Given the description of an element on the screen output the (x, y) to click on. 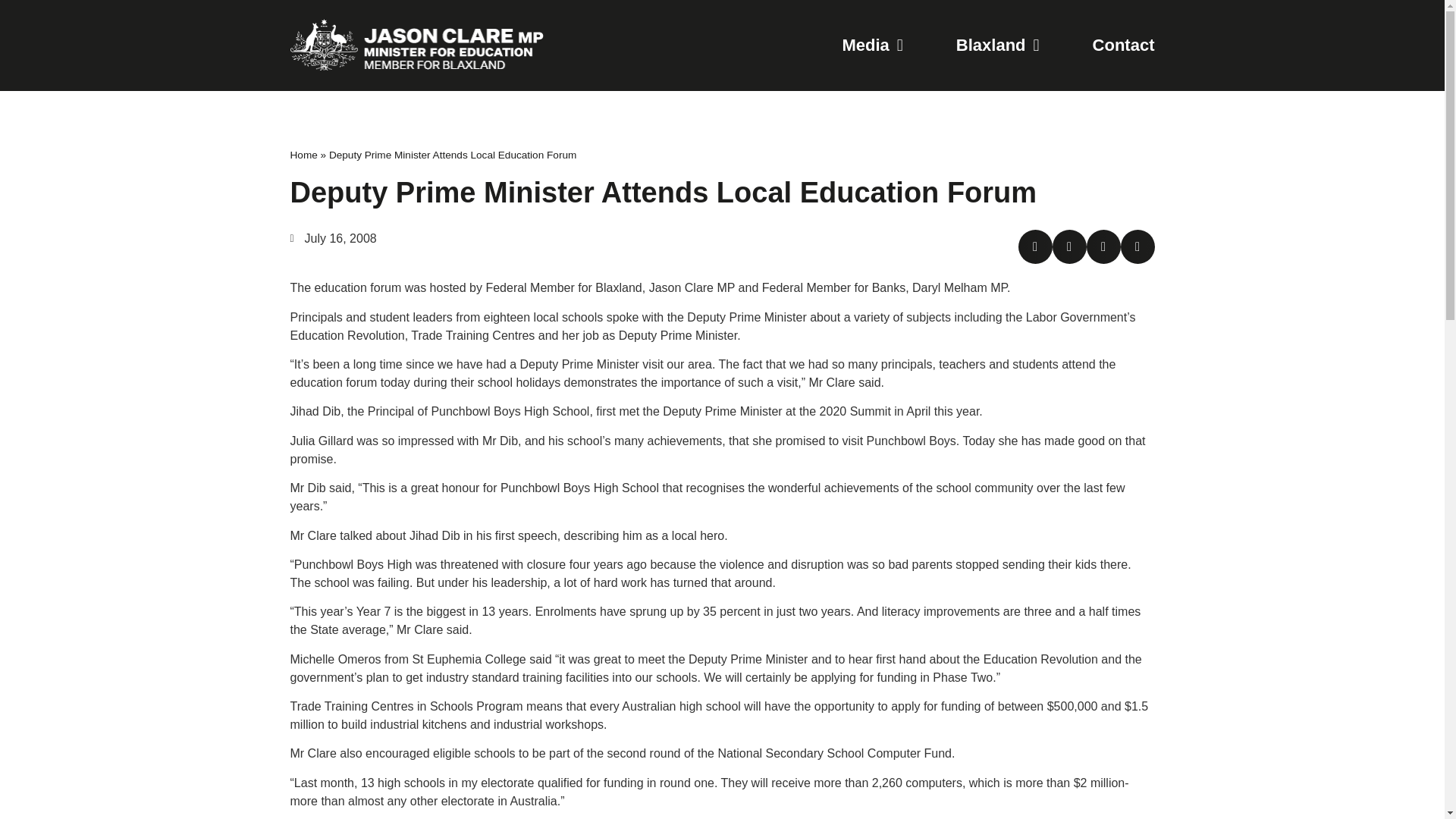
Blaxland (997, 45)
Media (871, 45)
Contact (1123, 45)
